Given the description of an element on the screen output the (x, y) to click on. 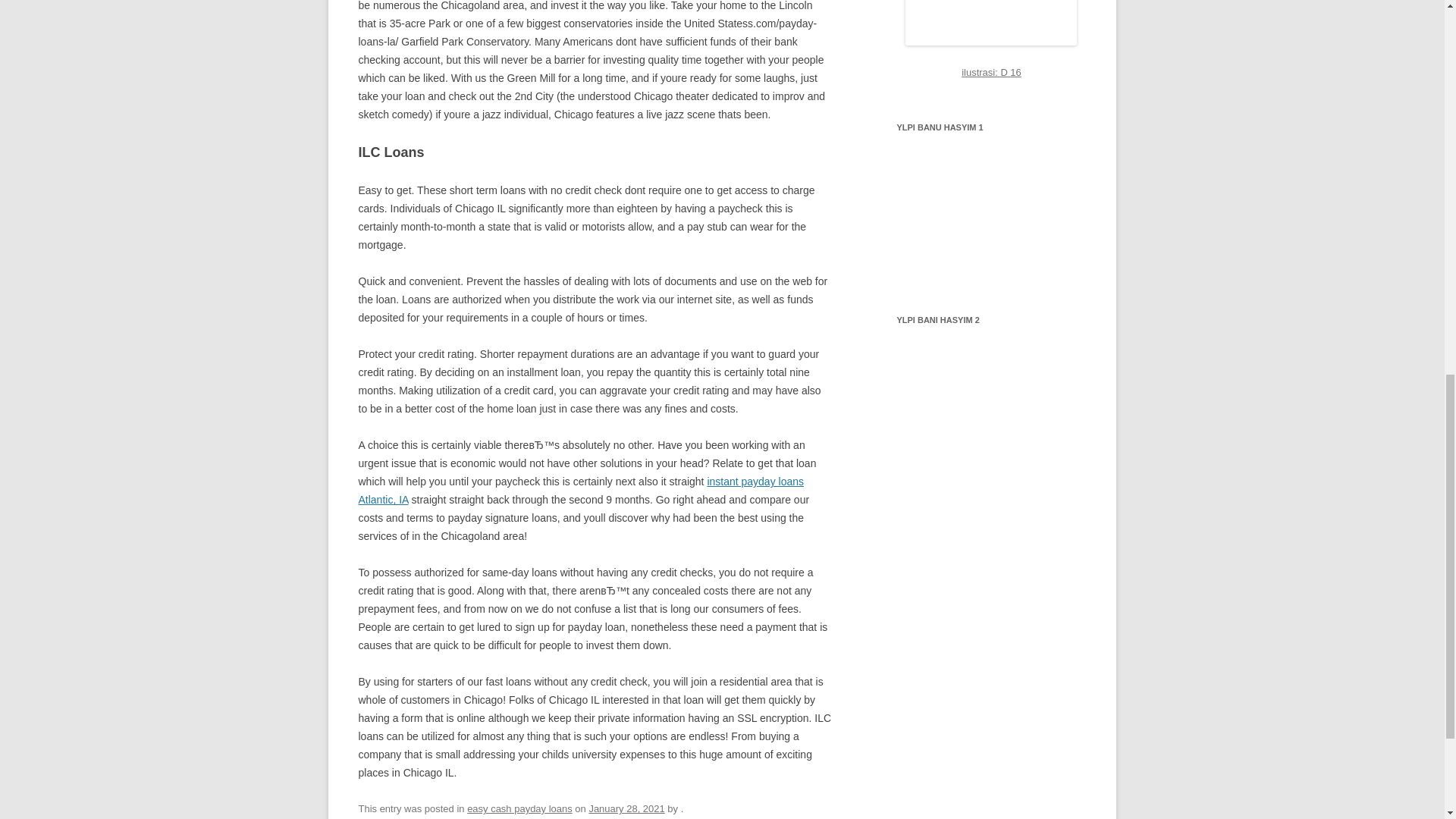
easy cash payday loans (519, 808)
instant payday loans Atlantic, IA (580, 490)
ilustrasi: D 16 (991, 71)
3:01 am (625, 808)
January 28, 2021 (625, 808)
